Given the description of an element on the screen output the (x, y) to click on. 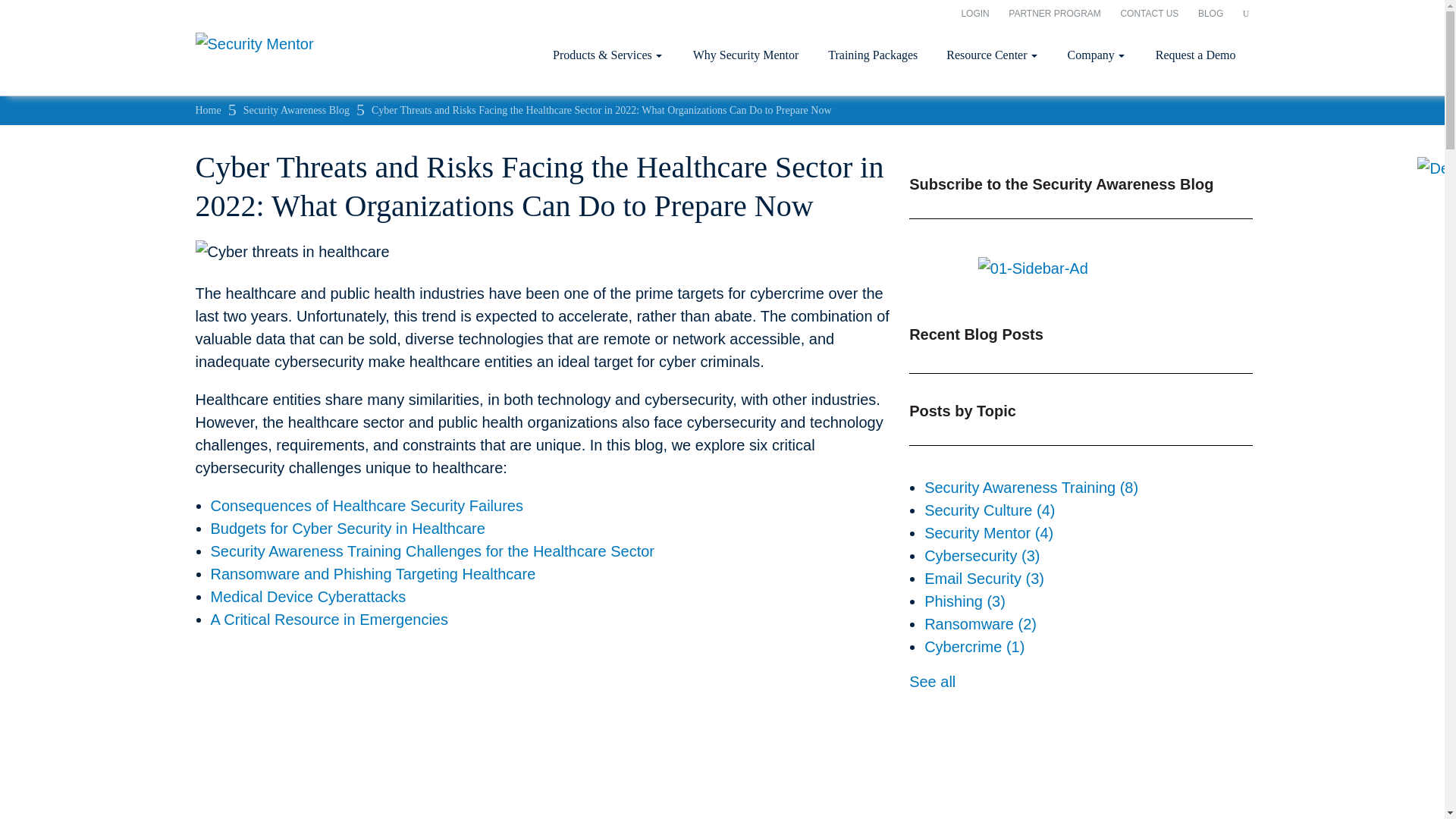
01-Sidebar-Ad (1032, 268)
Resource Center (991, 54)
Company (1096, 54)
CONTACT US (1148, 13)
Request a Demo (1194, 54)
PARTNER PROGRAM (1054, 13)
BLOG (1210, 13)
Training Packages (872, 54)
LOGIN (974, 13)
Why Security Mentor (745, 54)
